Given the description of an element on the screen output the (x, y) to click on. 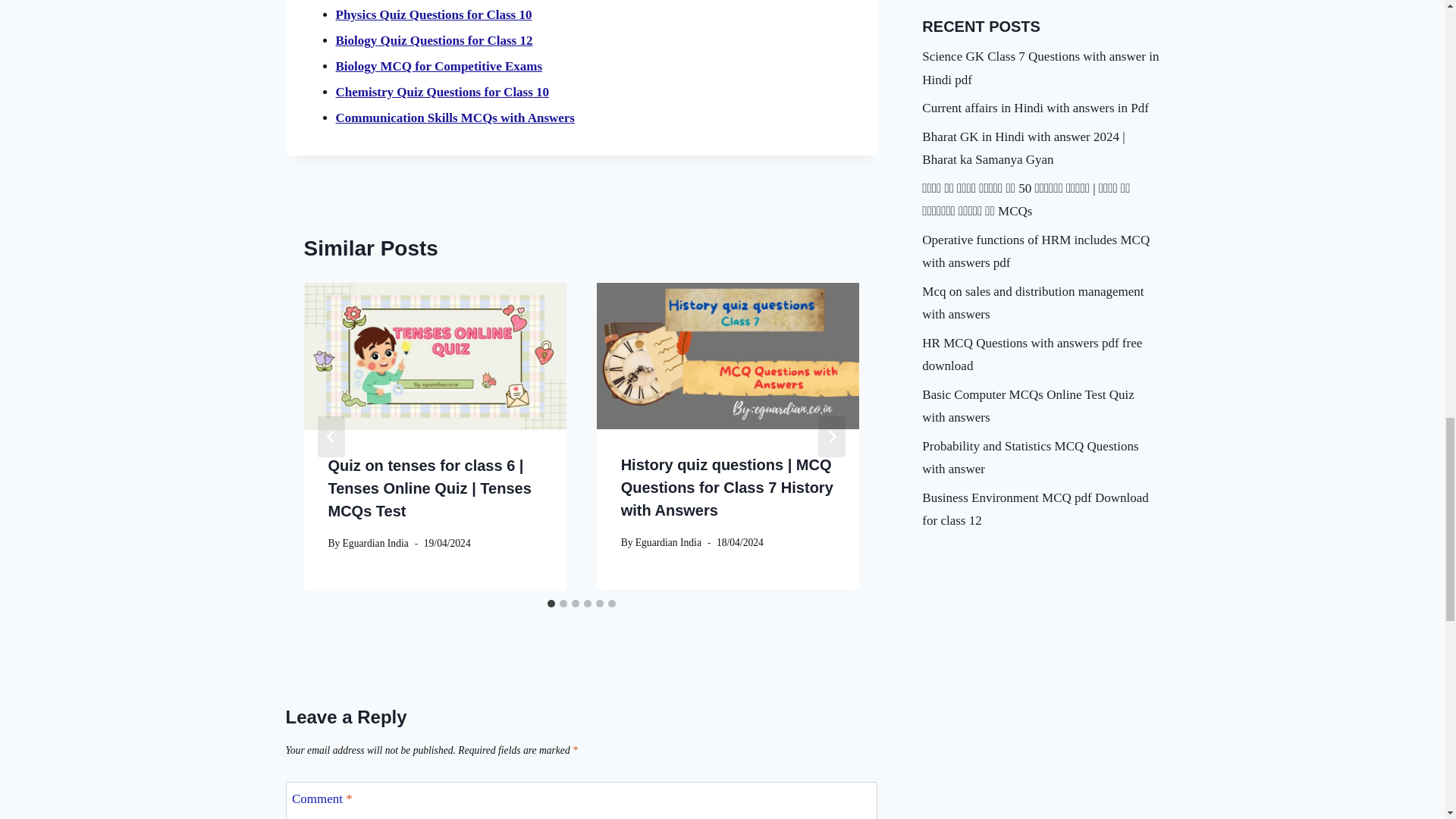
Chemistry Quiz Questions for Class 10 (441, 92)
Physics Quiz Questions for Class 10 (432, 14)
Biology MCQ for Competitive Exams (437, 65)
Biology Quiz Questions for Class 12 (433, 40)
Communication Skills MCQs with Answers (453, 117)
